Given the description of an element on the screen output the (x, y) to click on. 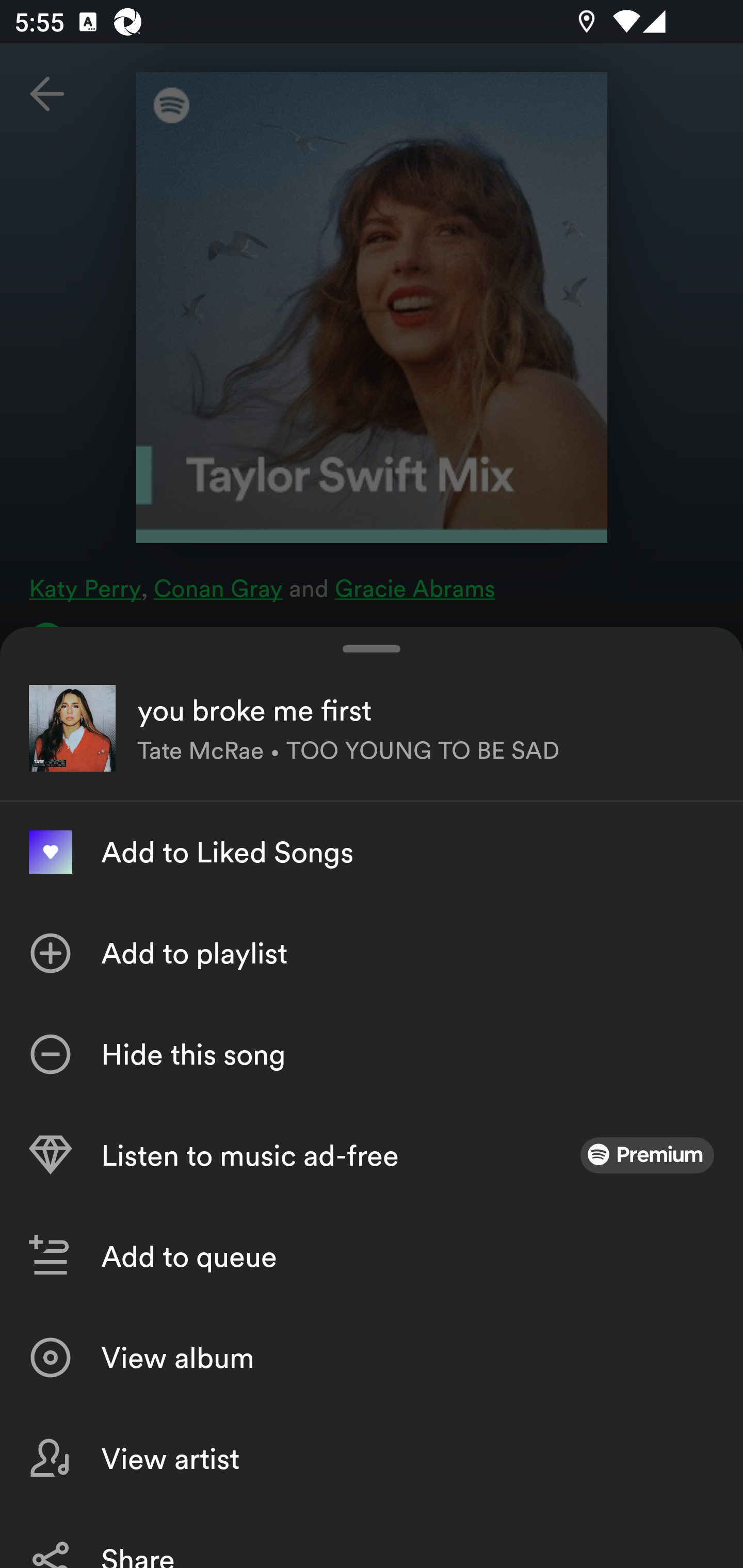
Add to Liked Songs (371, 852)
Add to playlist (371, 953)
Hide this song (371, 1054)
Listen to music ad-free (371, 1155)
Add to queue (371, 1256)
View album (371, 1357)
View artist (371, 1458)
Share (371, 1538)
